Given the description of an element on the screen output the (x, y) to click on. 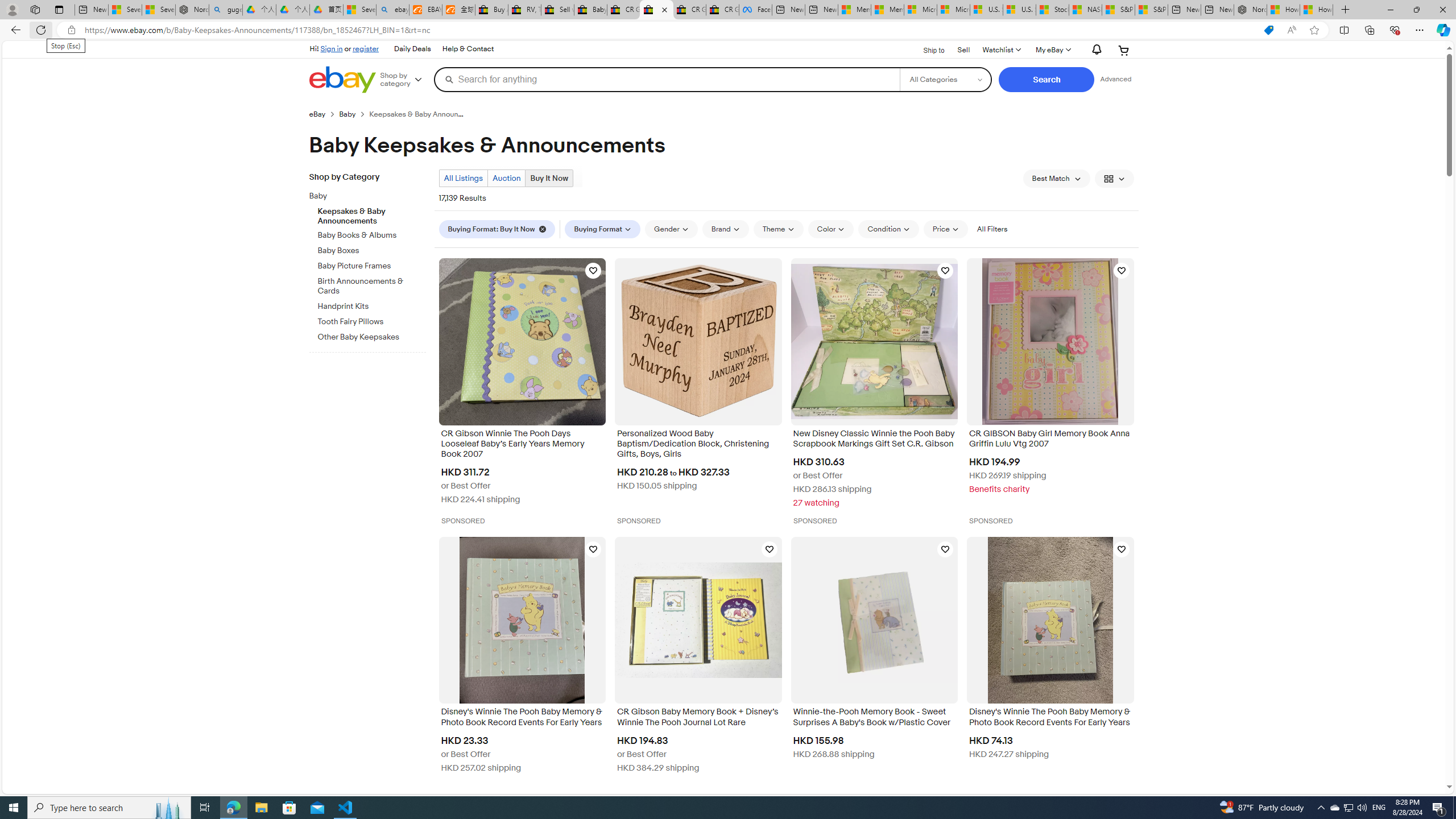
Search for anything (666, 78)
Baby Boxes (371, 250)
Split screen (1344, 29)
Ship to (926, 49)
Sort: Best Match (1056, 178)
Buy It Now (549, 177)
Baby Books & Albums (371, 235)
Birth Announcements & Cards (371, 283)
New Tab (1346, 9)
Gender (671, 229)
